Given the description of an element on the screen output the (x, y) to click on. 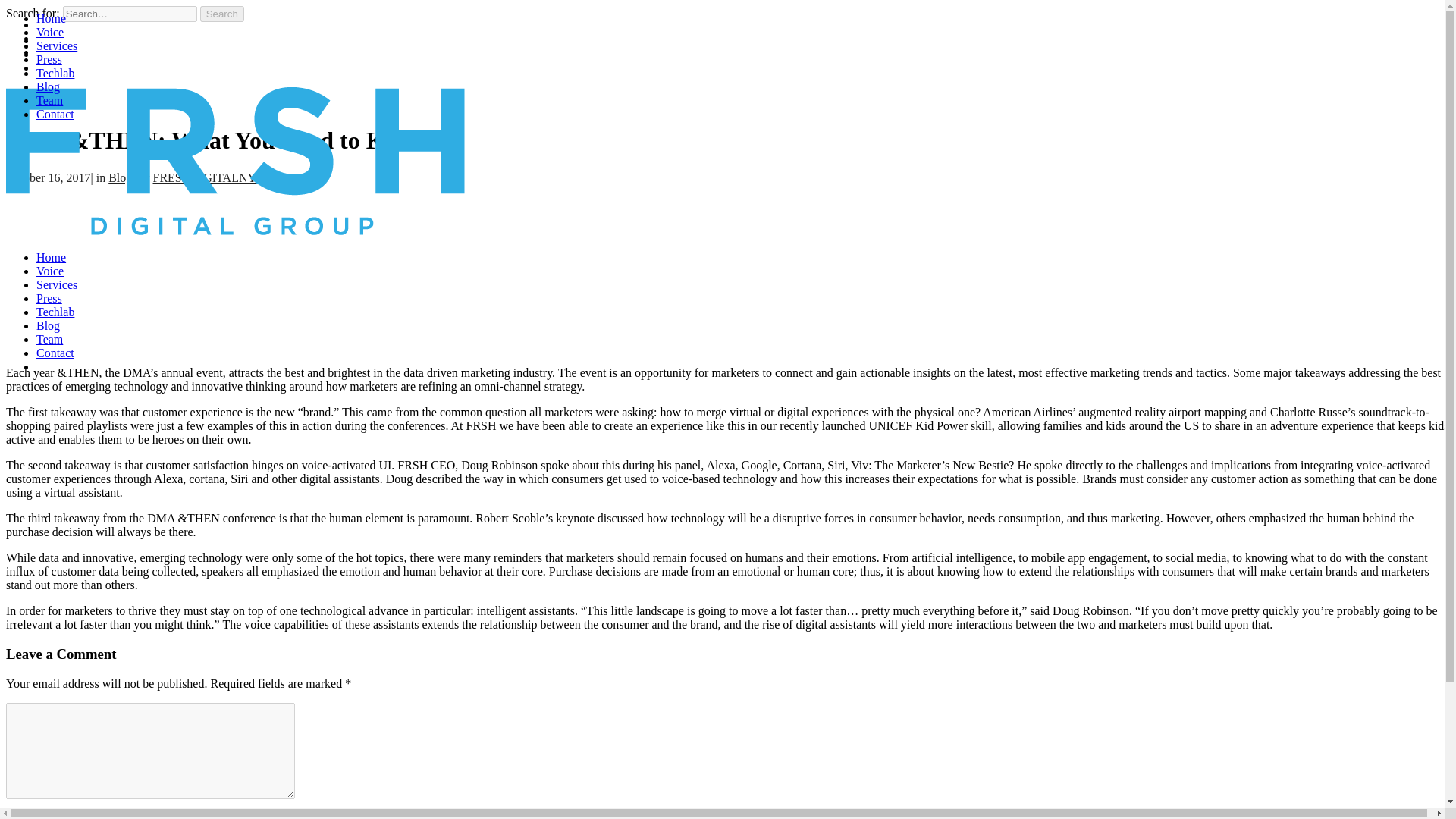
Press (49, 297)
Team (49, 338)
Press (49, 59)
Search (222, 13)
Techlab (55, 72)
Techlab (55, 311)
Contact (55, 352)
Search (222, 13)
Blog (47, 86)
Team (49, 100)
